Given the description of an element on the screen output the (x, y) to click on. 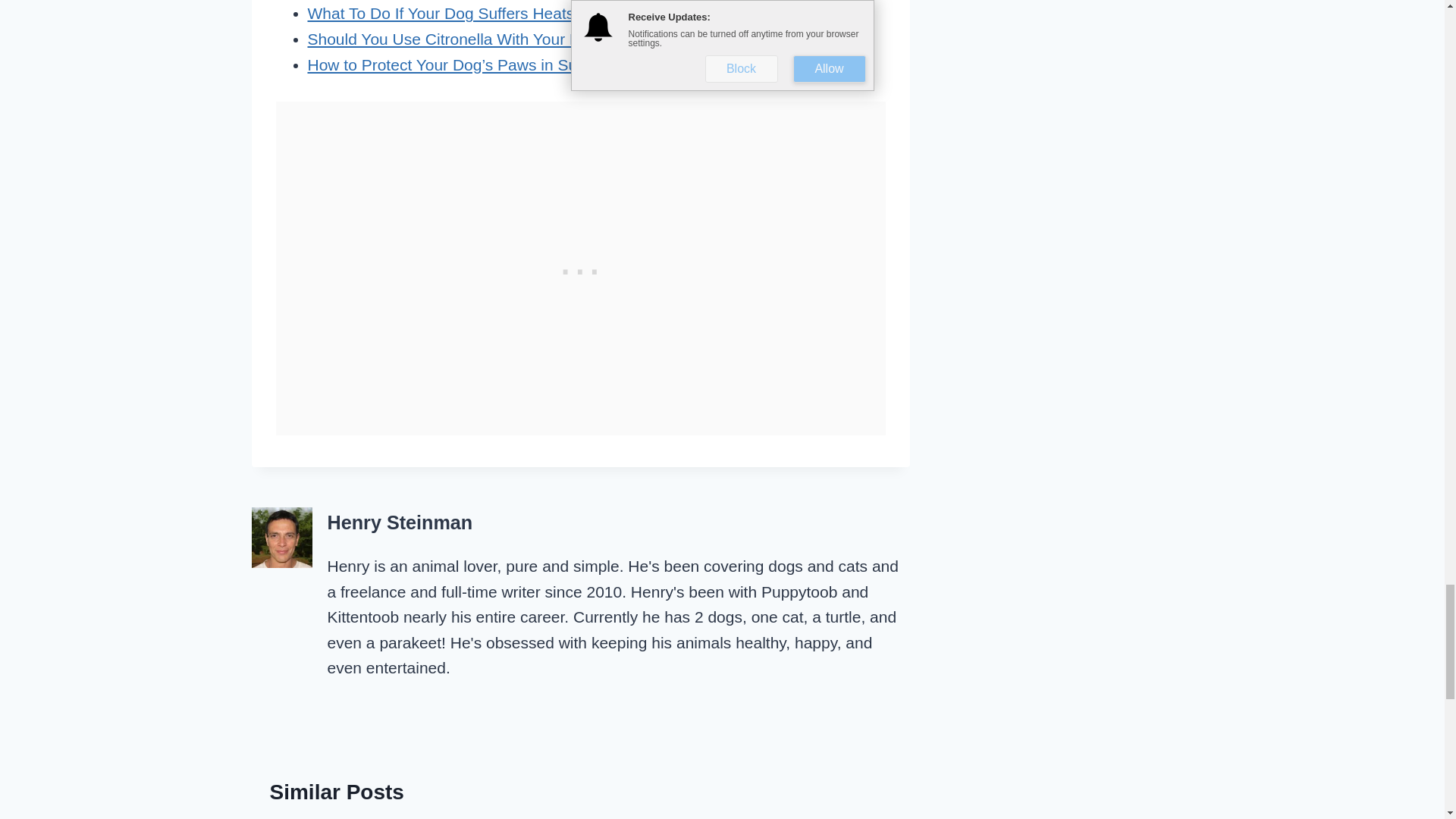
Should You Use Citronella With Your Dog Around? (484, 38)
Posts by Henry Steinman (400, 522)
What To Do If Your Dog Suffers Heatstroke (458, 13)
Henry Steinman (400, 522)
